Given the description of an element on the screen output the (x, y) to click on. 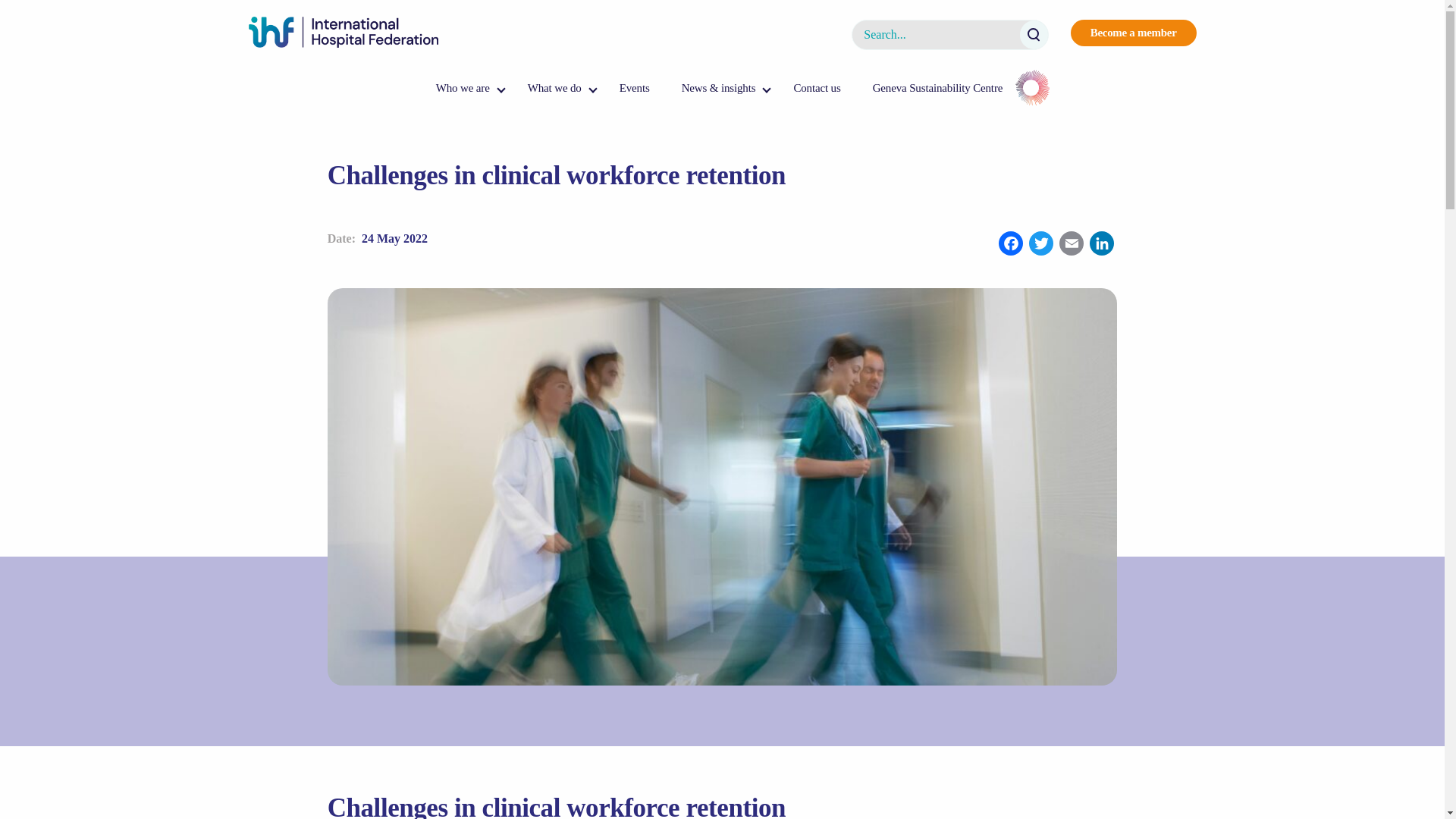
Search for: (949, 34)
LinkedIn (1101, 244)
Twitter (1041, 244)
Email (1071, 244)
Facebook (1010, 244)
